Given the description of an element on the screen output the (x, y) to click on. 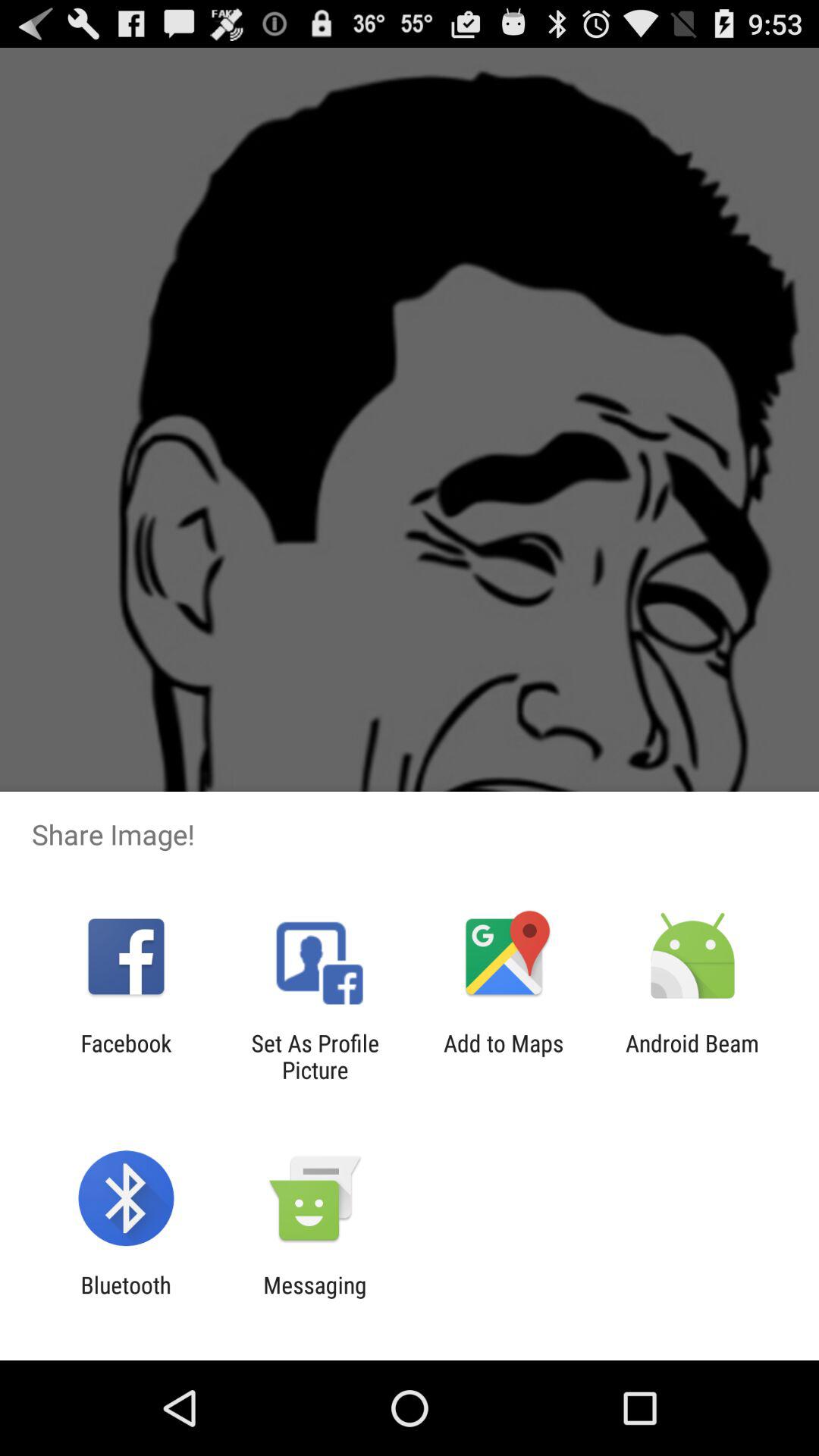
turn off the bluetooth (125, 1298)
